Given the description of an element on the screen output the (x, y) to click on. 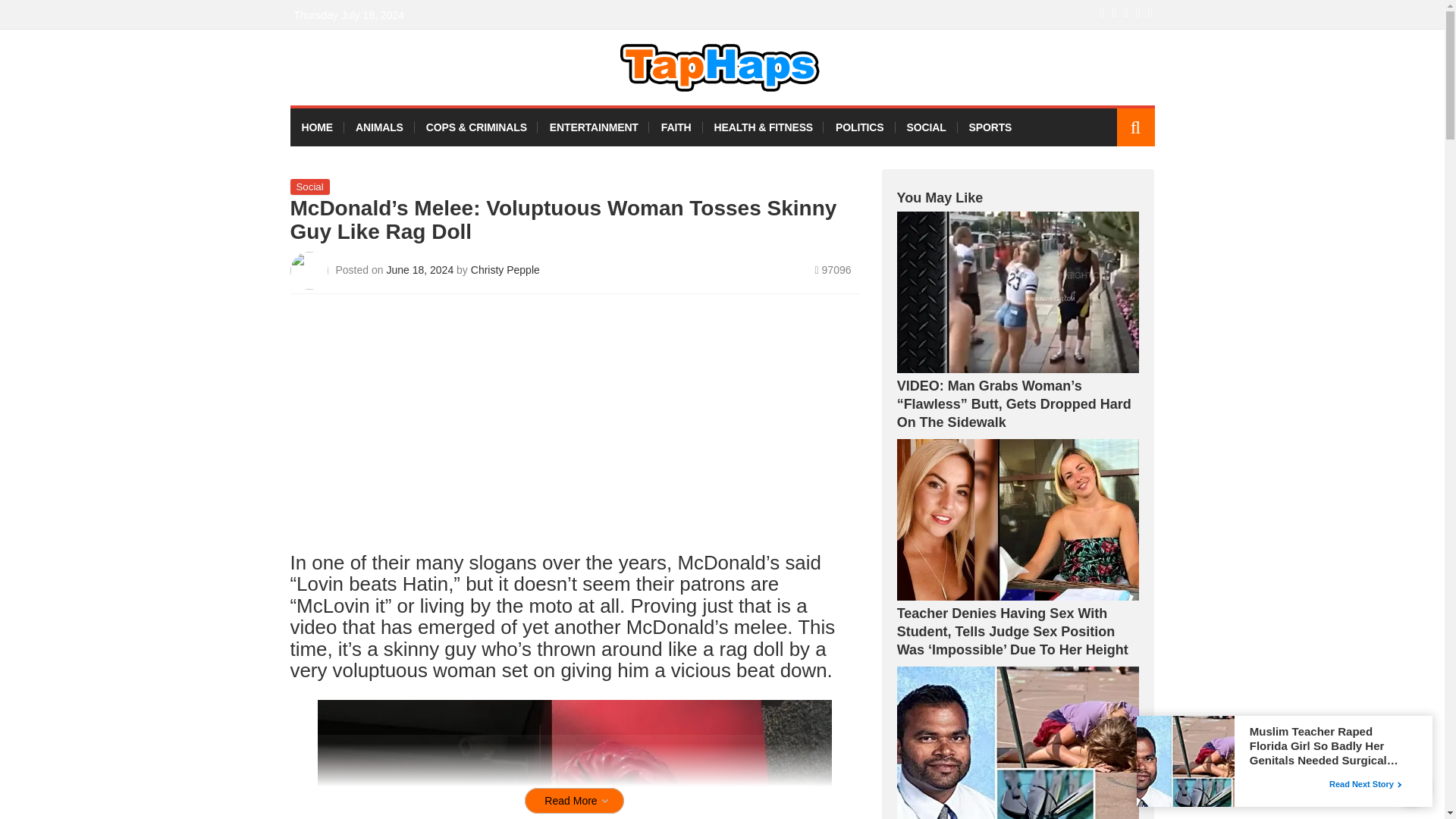
June 18, 2024 (421, 269)
Christy Pepple (505, 269)
ANIMALS (378, 127)
ENTERTAINMENT (593, 127)
Social (309, 186)
SPORTS (990, 127)
SOCIAL (925, 127)
FAITH (676, 127)
Advertisement (574, 427)
HOME (316, 127)
POLITICS (859, 127)
